Given the description of an element on the screen output the (x, y) to click on. 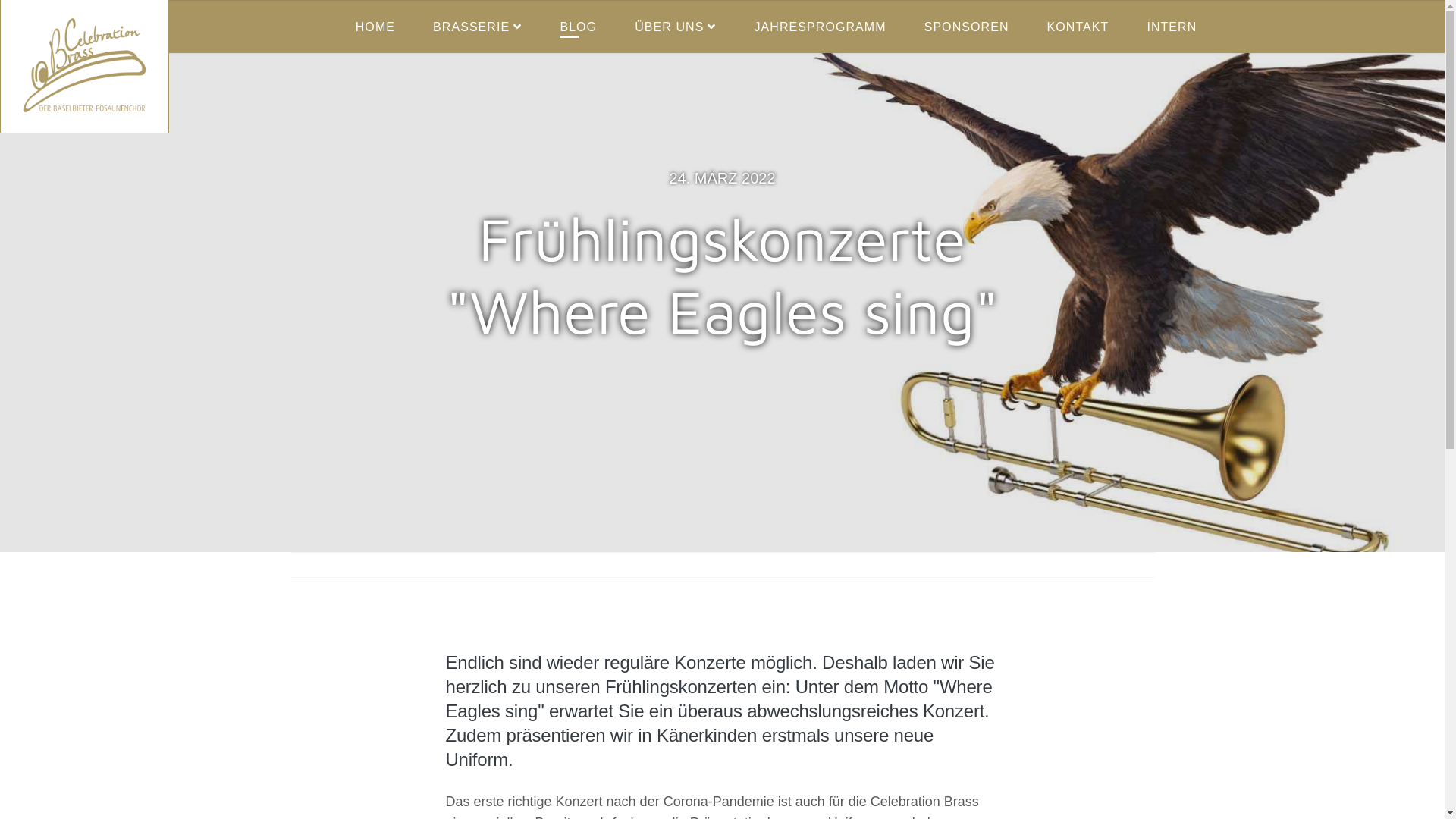
KONTAKT Element type: text (1078, 27)
BRASSERIE Element type: text (477, 26)
INTERN Element type: text (1171, 27)
BLOG Element type: text (577, 27)
SPONSOREN Element type: text (966, 27)
JAHRESPROGRAMM Element type: text (820, 27)
HOME Element type: text (375, 27)
